Given the description of an element on the screen output the (x, y) to click on. 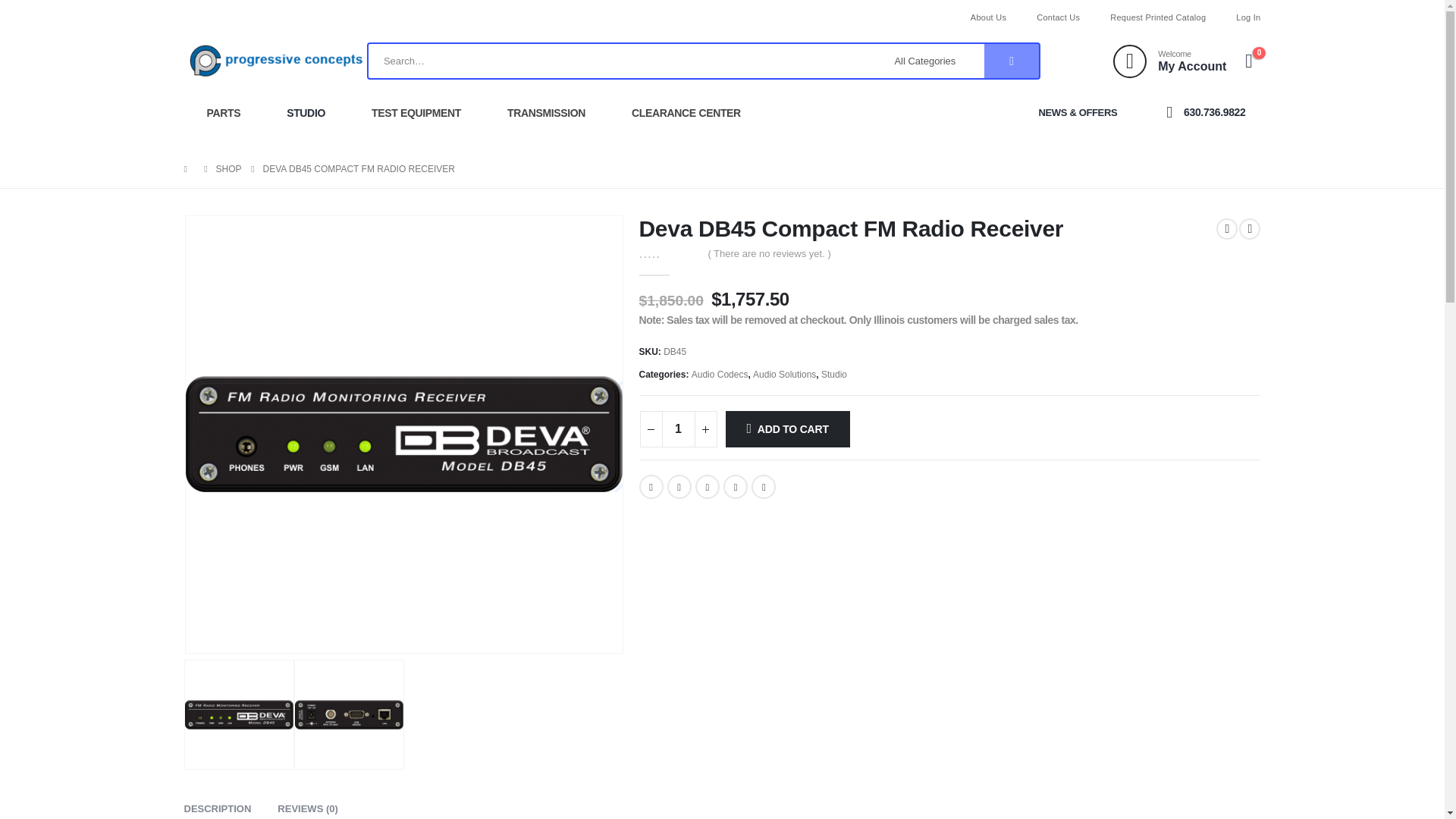
Email (763, 486)
TEST EQUIPMENT (416, 112)
0 (668, 252)
STUDIO (305, 112)
Contact Us (1058, 16)
Log In (1240, 16)
Facebook (650, 486)
About Us (988, 16)
LinkedIn (707, 486)
